Given the description of an element on the screen output the (x, y) to click on. 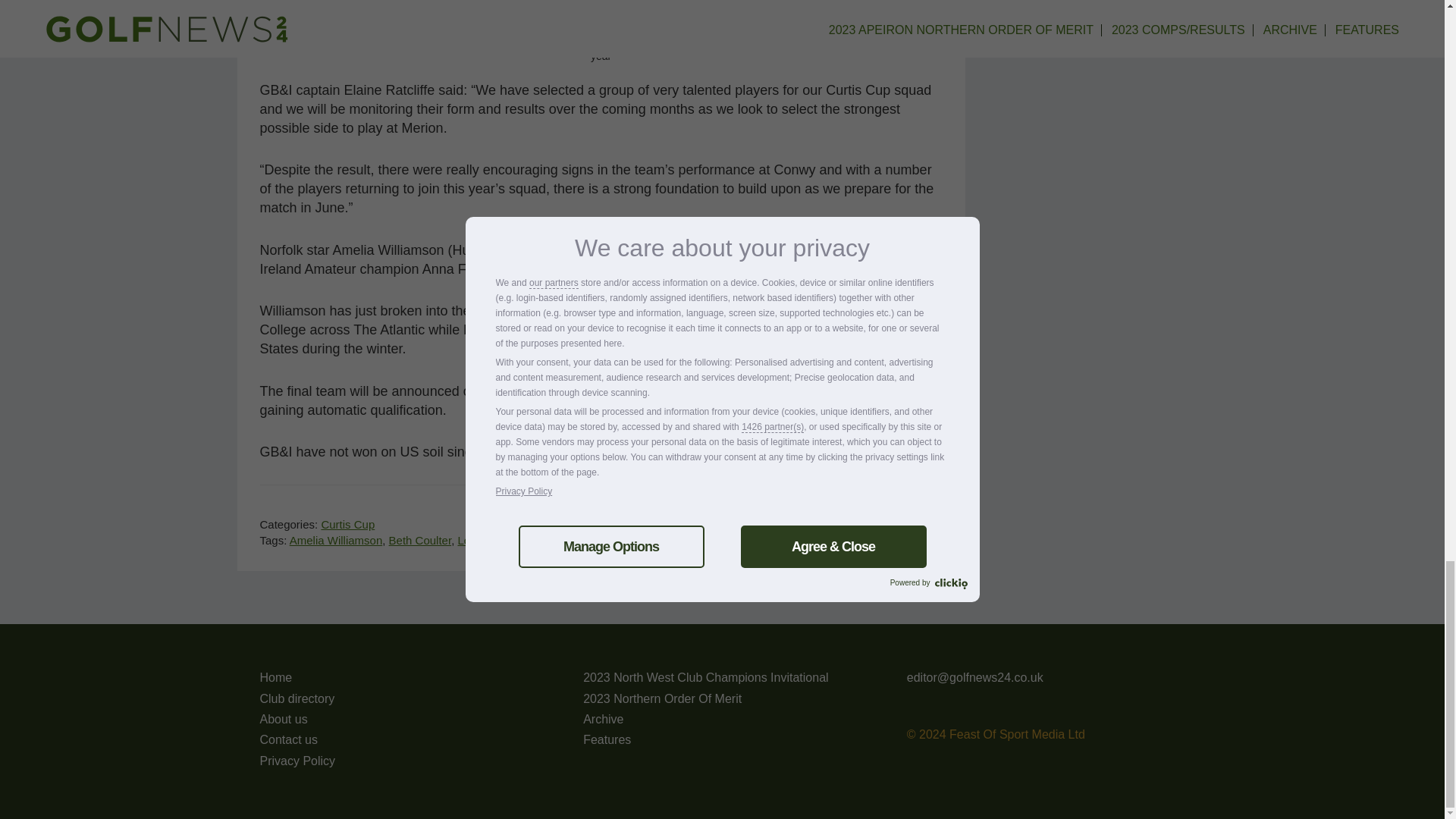
Amelia Williamson (335, 540)
Curtis Cup (347, 523)
